Given the description of an element on the screen output the (x, y) to click on. 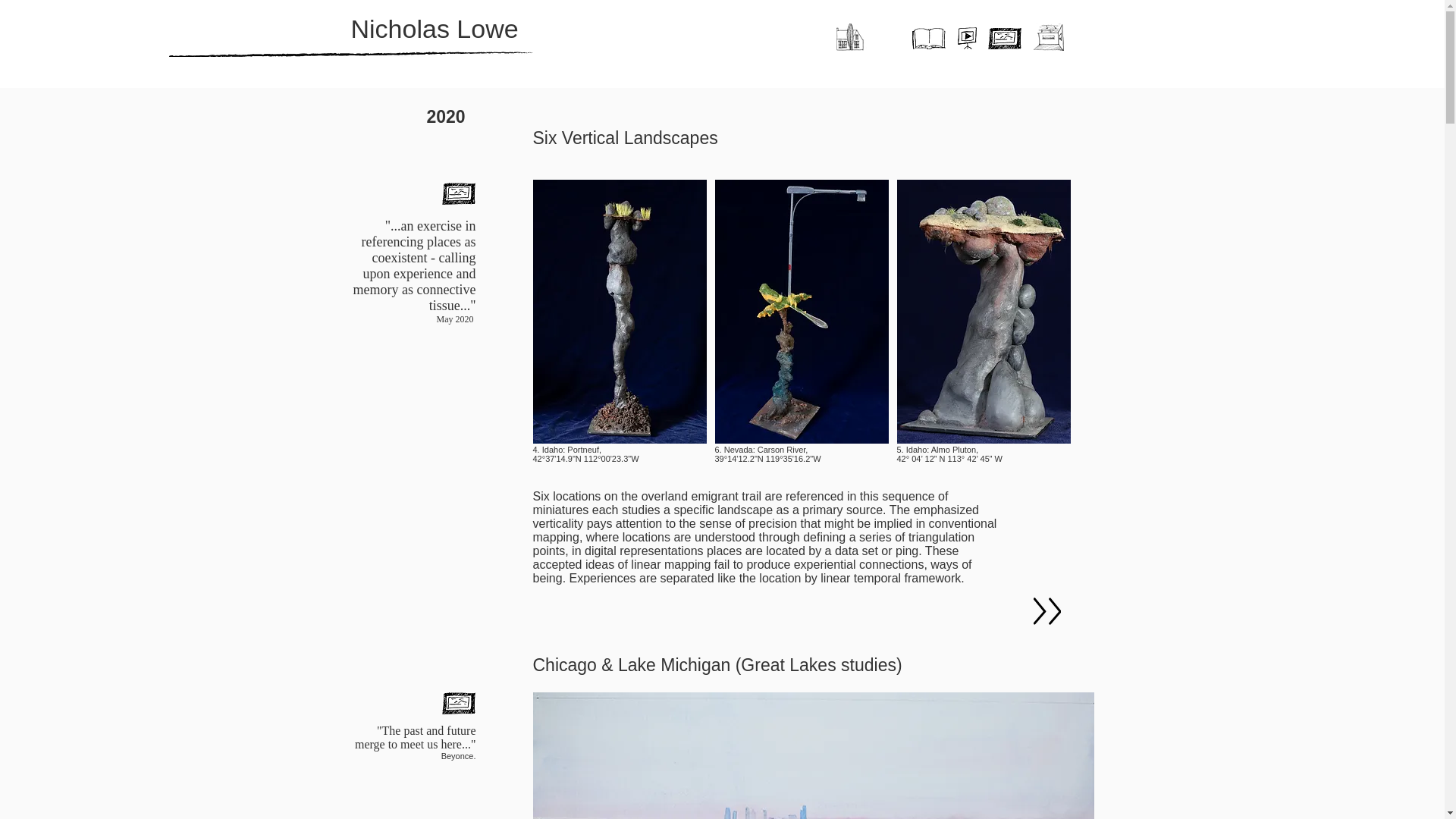
Images (1003, 38)
Videos (965, 38)
Six Vertical Landscapes (624, 137)
Field Sunset (801, 311)
Home (850, 36)
Field Sunset (619, 311)
Field Sunset (983, 311)
Publications (927, 38)
Installations (1047, 36)
Nicholas Lowe (434, 28)
